Given the description of an element on the screen output the (x, y) to click on. 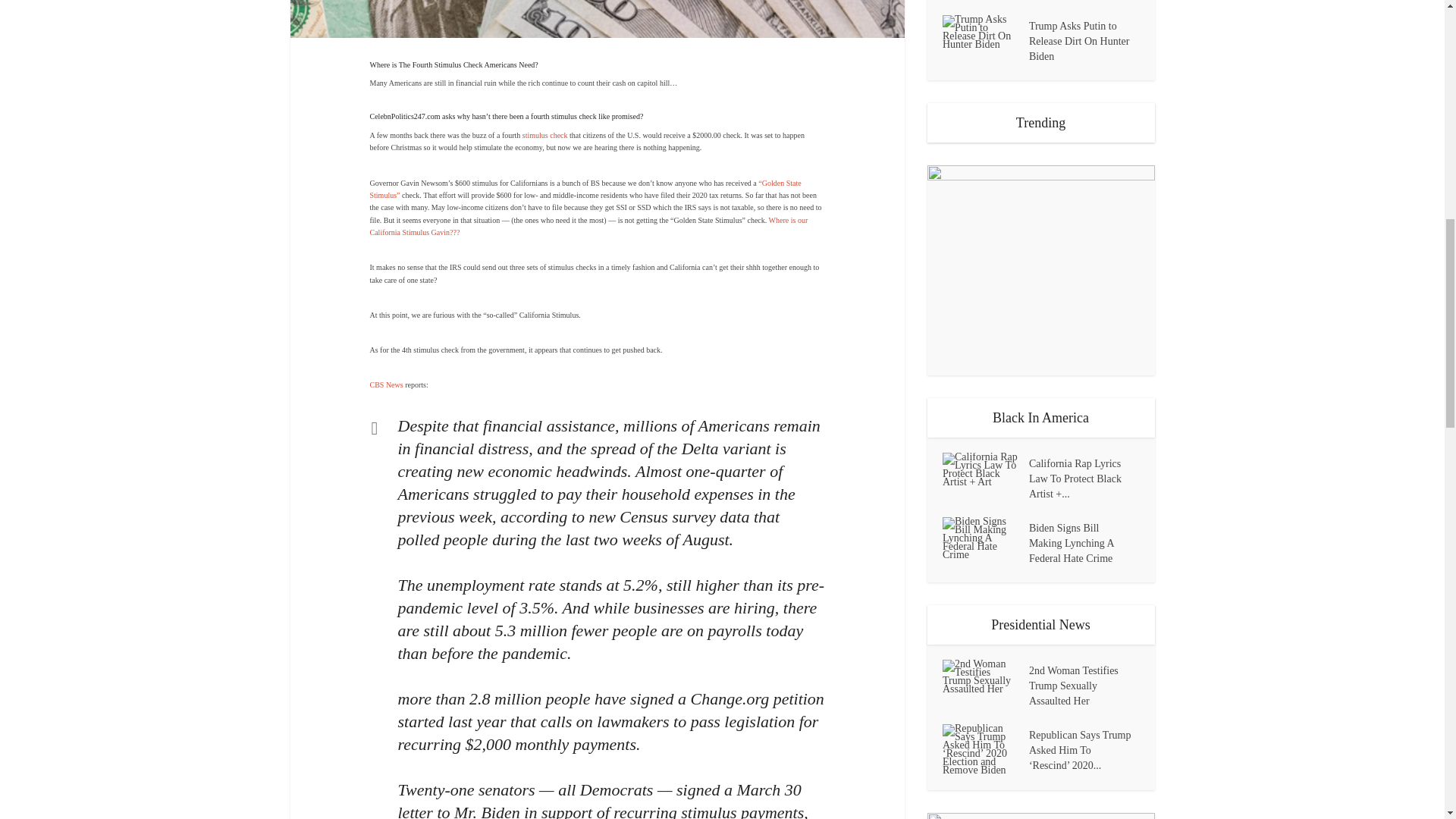
Where is our California Stimulus Gavin??? (588, 226)
CBS News (386, 384)
stimulus check (544, 135)
